Given the description of an element on the screen output the (x, y) to click on. 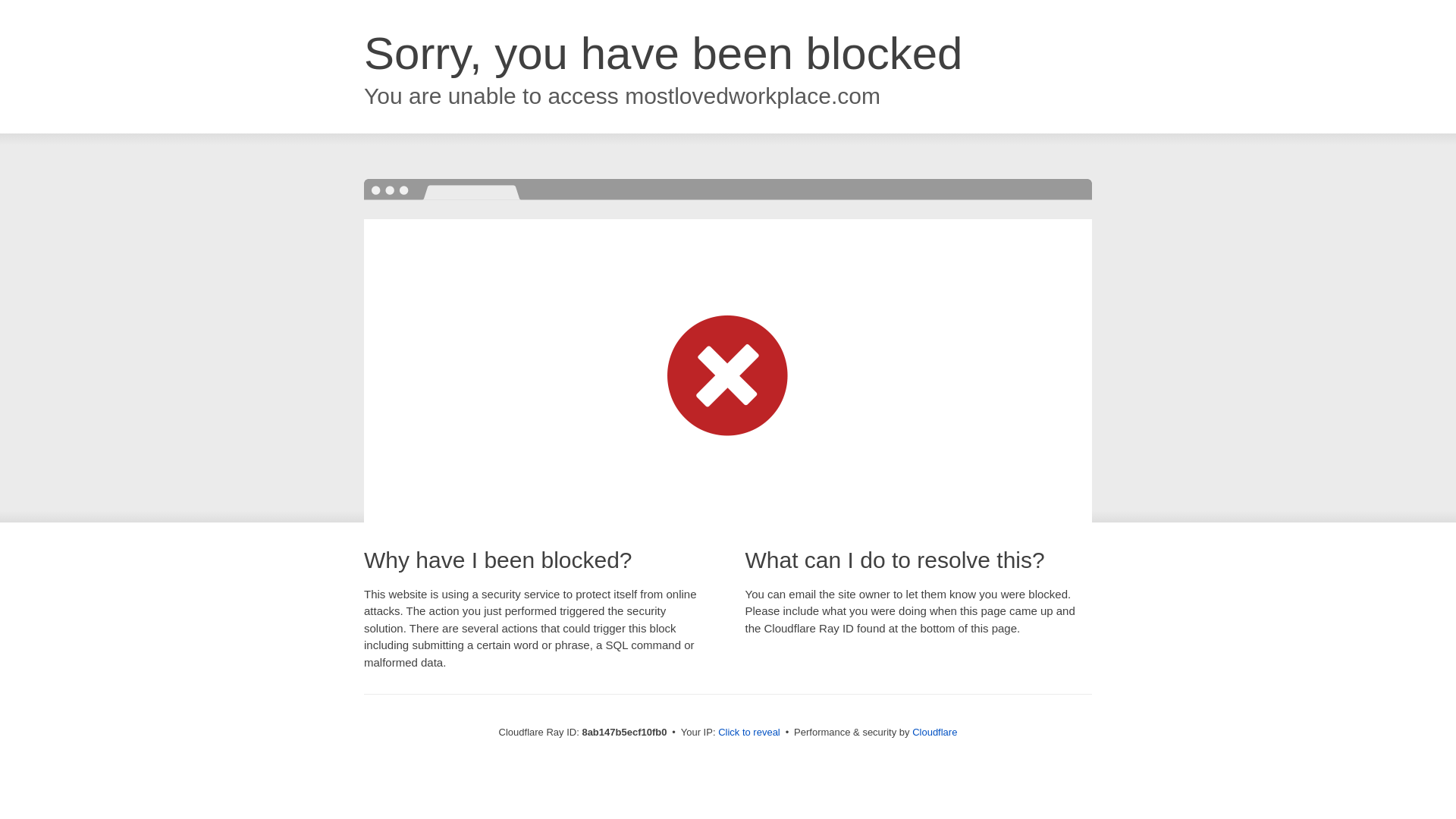
Click to reveal (748, 732)
Cloudflare (934, 731)
